Given the description of an element on the screen output the (x, y) to click on. 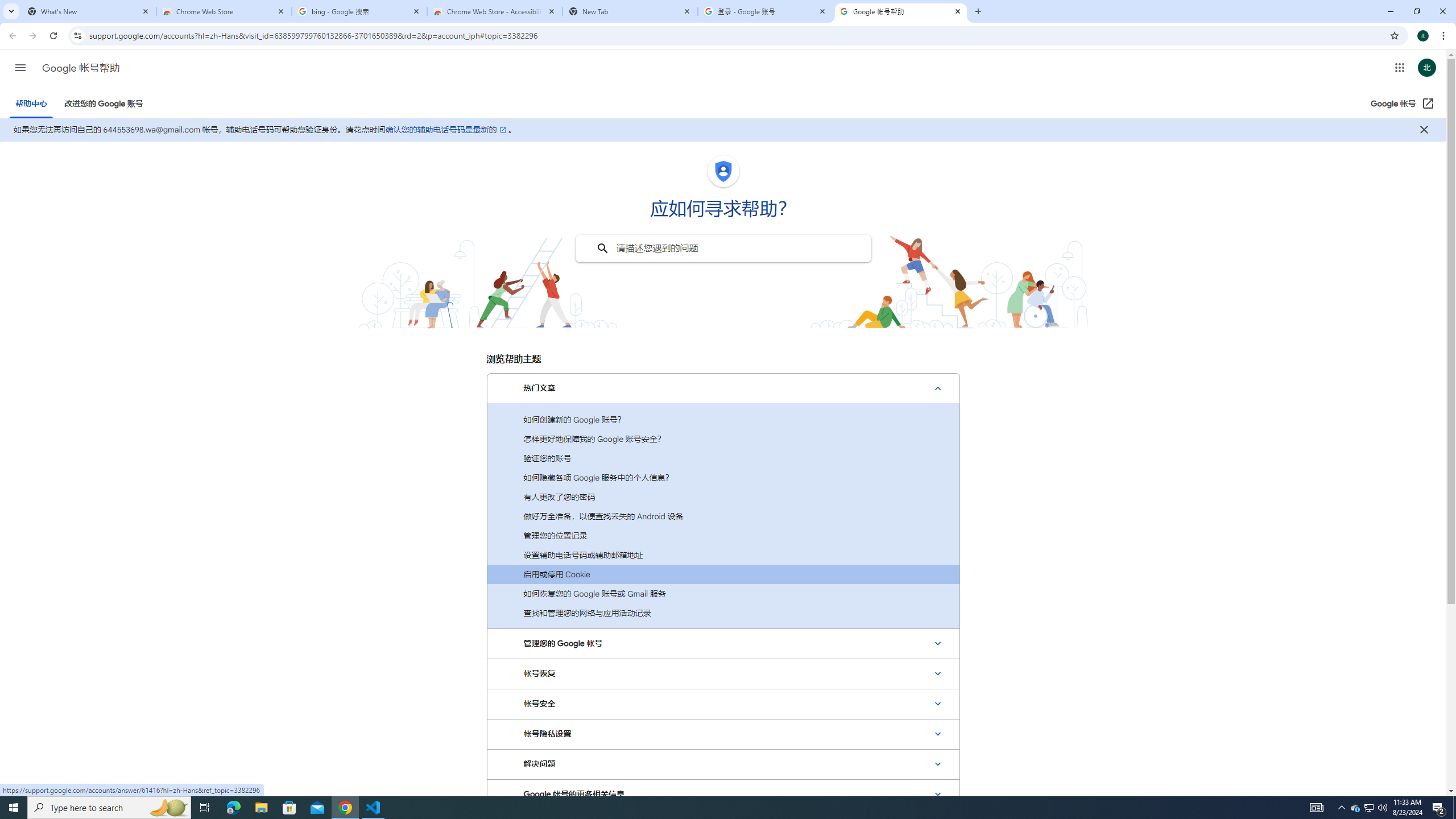
What's New (88, 11)
Restore (1416, 11)
